Given the description of an element on the screen output the (x, y) to click on. 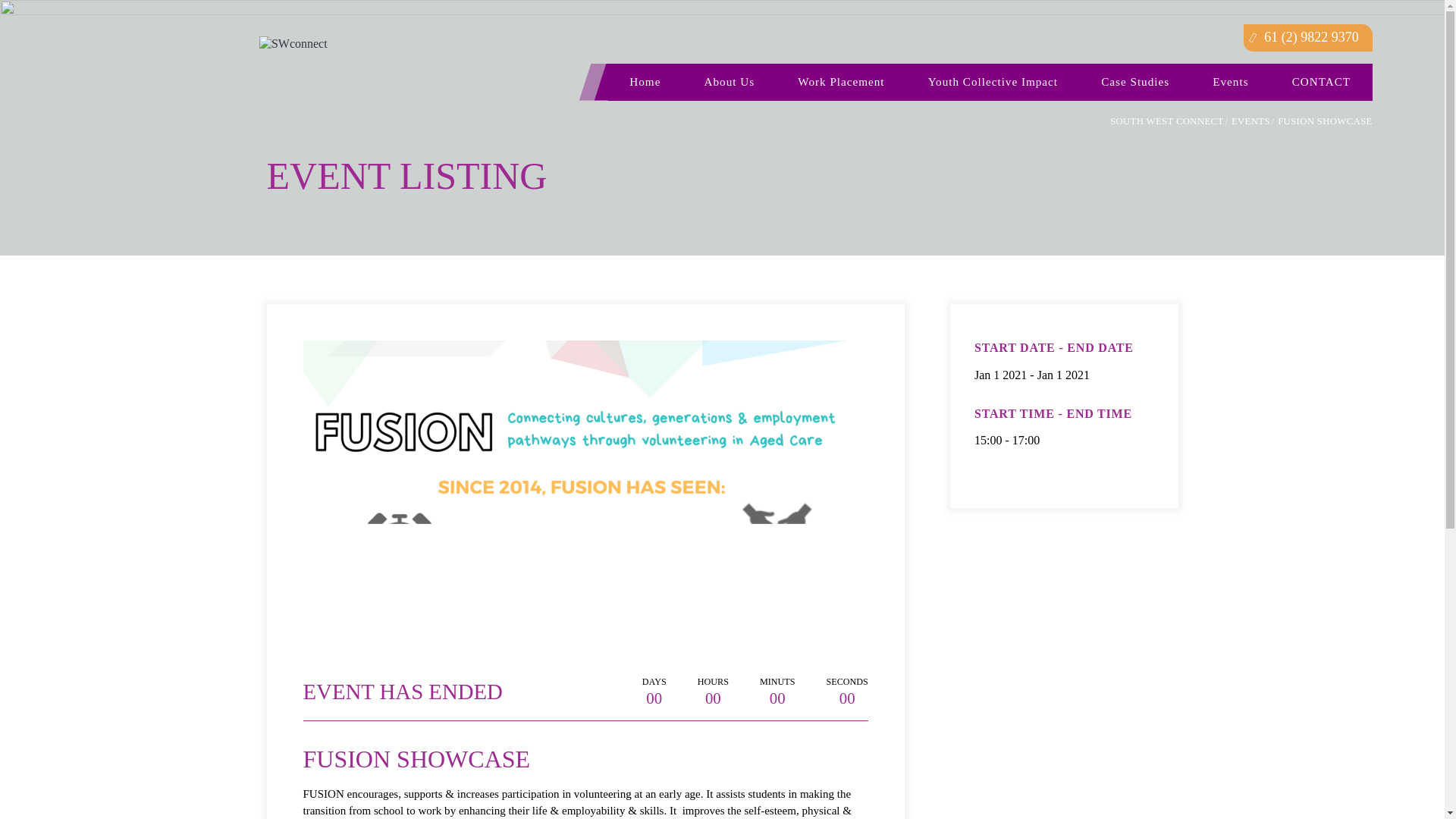
Youth Collective Impact (991, 81)
Work Placement (841, 81)
Case Studies (1134, 81)
CONTACT (1320, 81)
Events (1230, 81)
Home (644, 81)
About Us (729, 81)
